Given the description of an element on the screen output the (x, y) to click on. 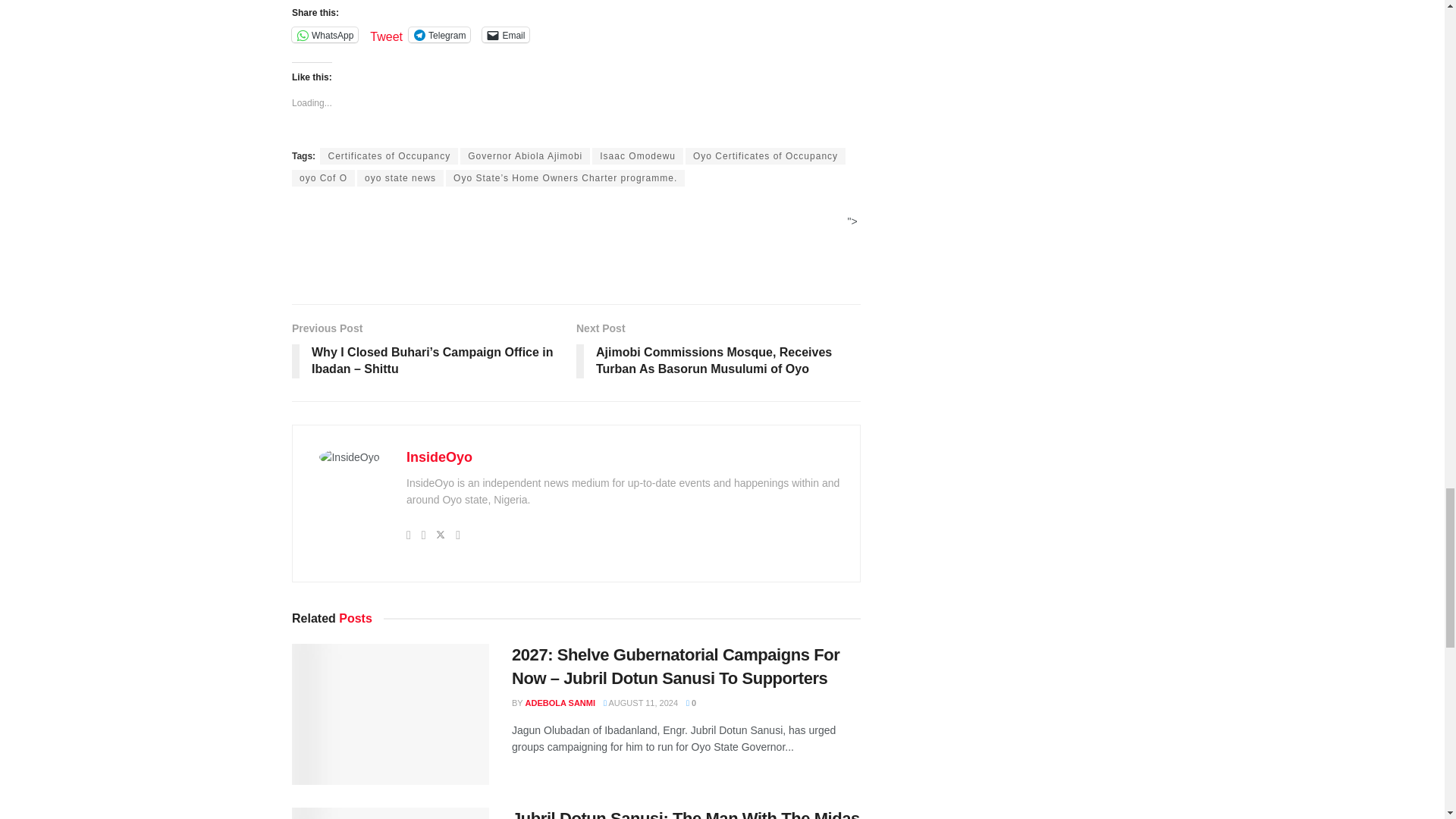
Click to share on WhatsApp (325, 34)
Click to email a link to a friend (505, 34)
Click to share on Telegram (439, 34)
